Given the description of an element on the screen output the (x, y) to click on. 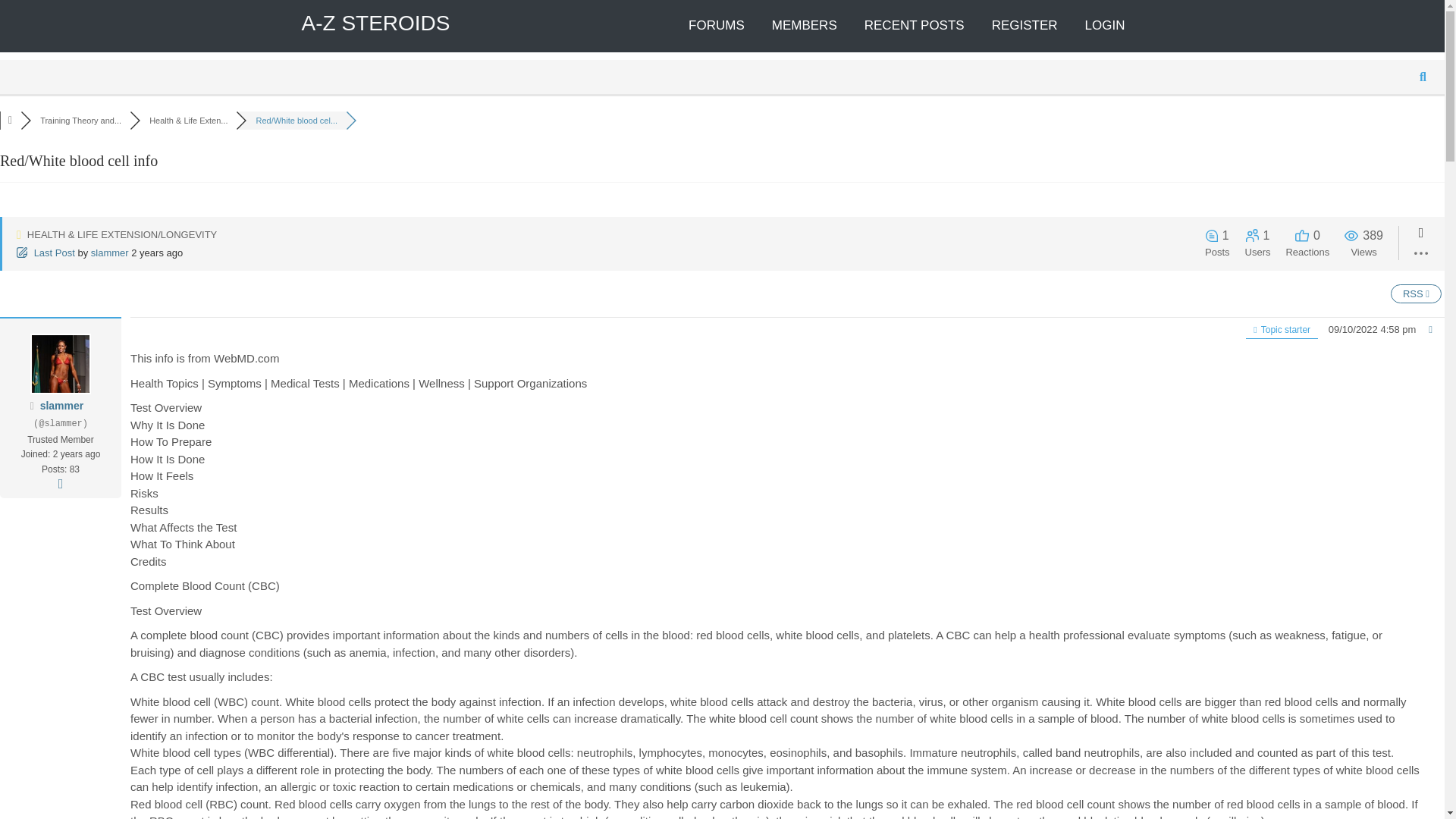
slammer (62, 405)
A-Z STEROIDS (375, 23)
RECENT POSTS (915, 25)
RSS (1415, 293)
Last Post (46, 252)
Rating Title (60, 439)
MEMBERS (804, 25)
slammer (62, 405)
More (60, 483)
REGISTER (1024, 25)
